Given the description of an element on the screen output the (x, y) to click on. 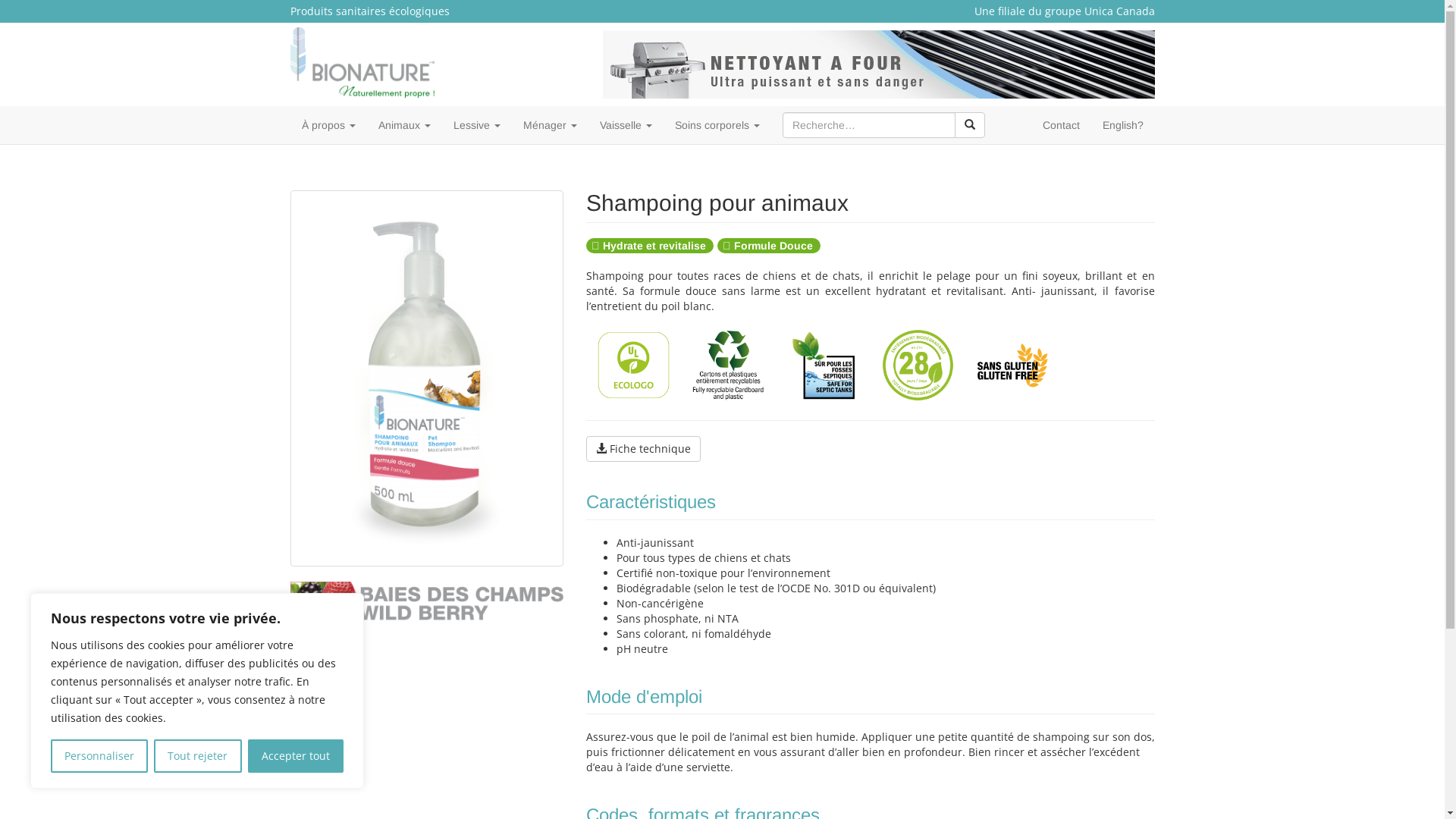
Fiche technique Element type: text (642, 448)
Contact Element type: text (1061, 125)
Baie des champs Element type: hover (425, 601)
Une filiale du groupe Unica Canada Element type: text (1063, 10)
Rechercher Element type: hover (968, 125)
Lessive Element type: text (476, 125)
Soins corporels Element type: text (716, 125)
Sans danger pour une fosse septique Element type: hover (823, 365)
English? Element type: text (1122, 125)
Sans gluten Element type: hover (1012, 365)
Vaisselle Element type: text (625, 125)
Shampoing pour animaux Element type: hover (426, 378)
Animaux Element type: text (404, 125)
Accepter tout Element type: text (295, 755)
Personnaliser Element type: text (98, 755)
Emballage recyclable Element type: hover (727, 365)
Laboratoire Bionature Element type: hover (425, 62)
Tout rejeter Element type: text (197, 755)
